Given the description of an element on the screen output the (x, y) to click on. 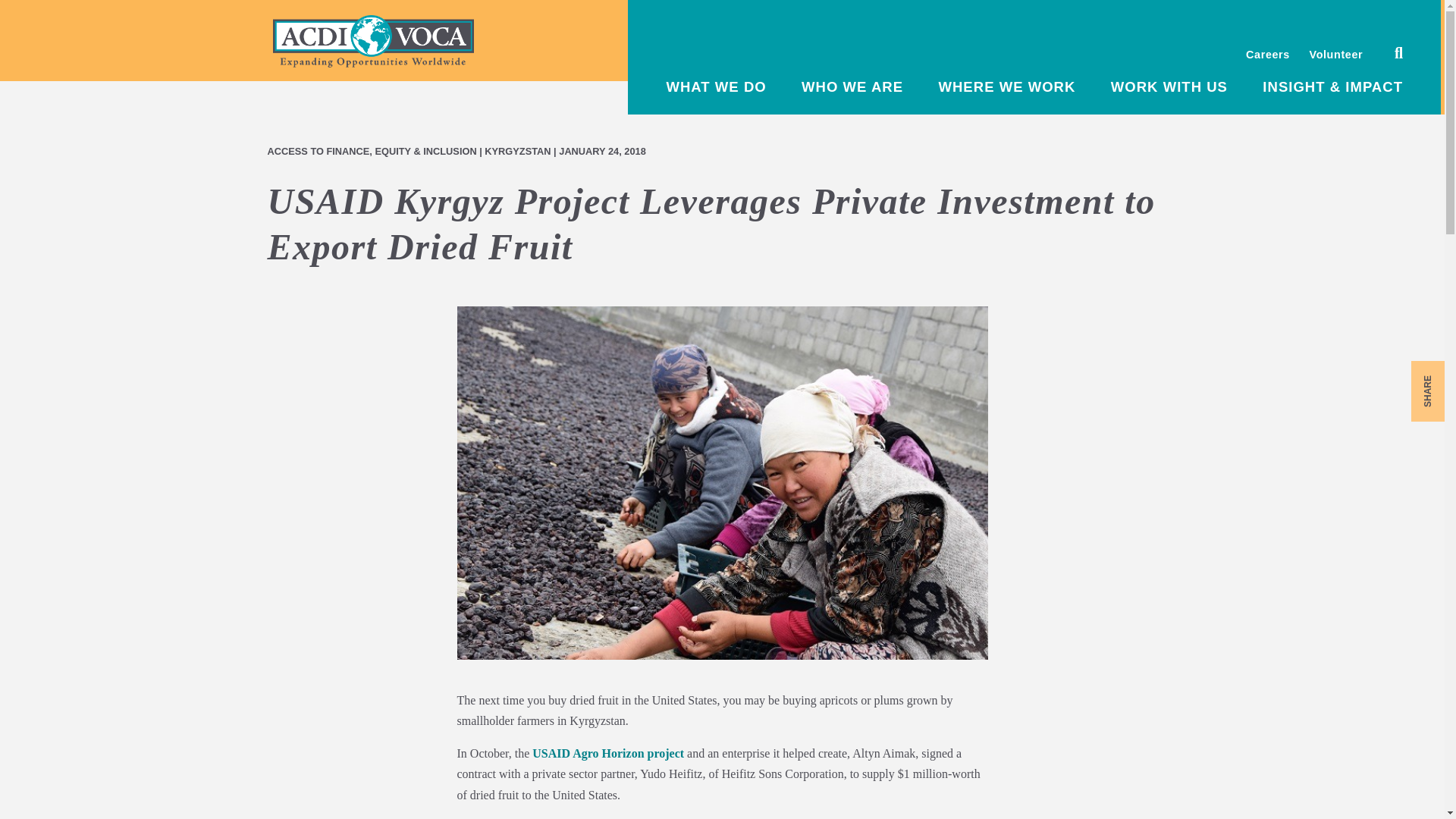
KYRGYZSTAN (517, 151)
Careers (1268, 54)
Volunteer (1335, 54)
WORK WITH US (1168, 86)
WHAT WE DO (715, 86)
USAID Agro Horizon project (608, 753)
ACCESS TO FINANCE (317, 151)
WHO WE ARE (852, 86)
WHERE WE WORK (1006, 86)
